Given the description of an element on the screen output the (x, y) to click on. 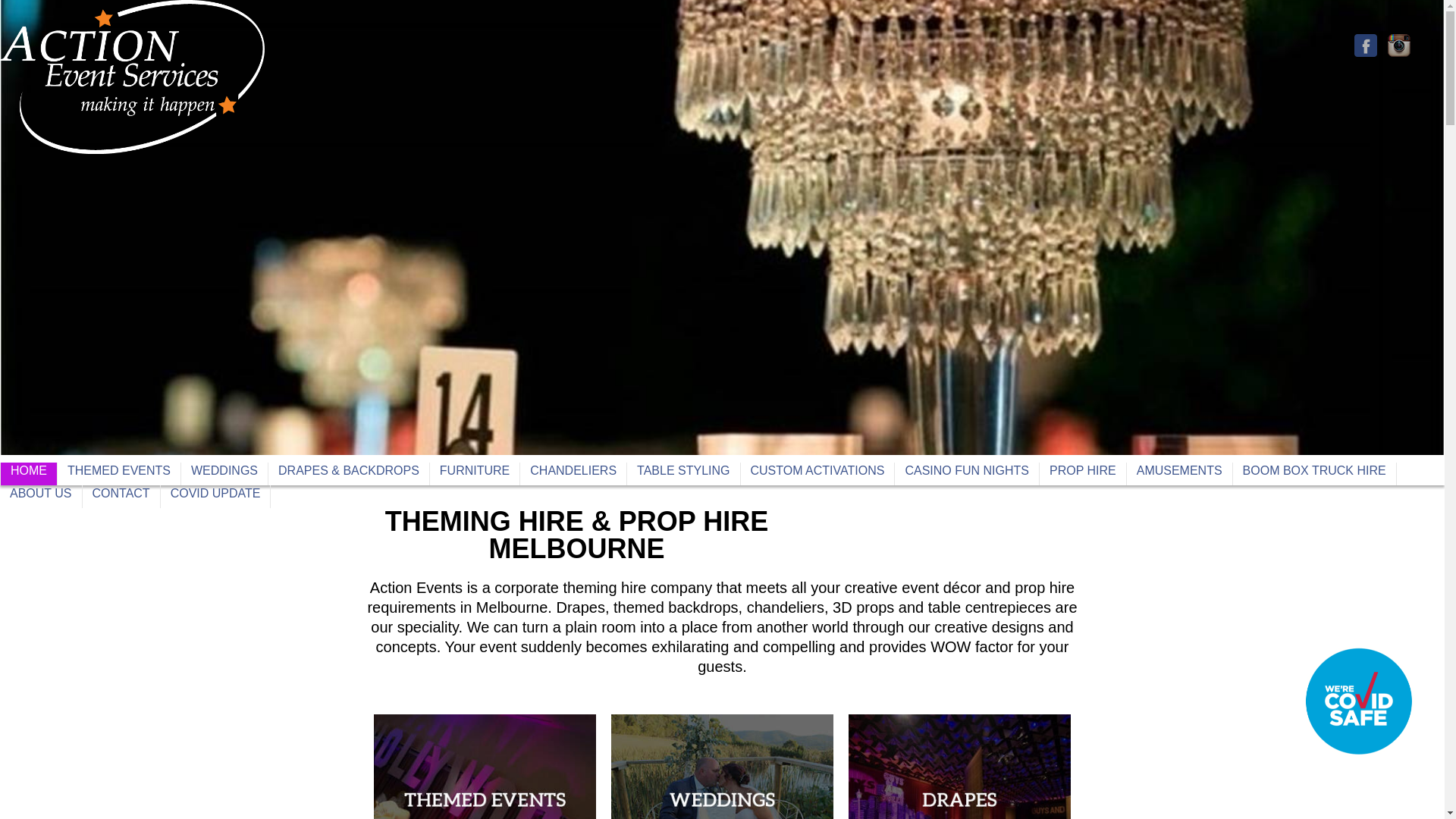
HOME (28, 473)
TABLE STYLING (683, 473)
CASINO FUN NIGHTS (967, 473)
THEMED EVENTS (119, 473)
BOOM BOX TRUCK HIRE (1314, 473)
CONTACT (119, 496)
CHANDELIERS (572, 473)
COVID UPDATE (215, 496)
WEDDINGS (223, 473)
PROP HIRE (1082, 473)
CUSTOM ACTIVATIONS (816, 473)
FURNITURE (474, 473)
ABOUT US (40, 496)
AMUSEMENTS (1178, 473)
